Given the description of an element on the screen output the (x, y) to click on. 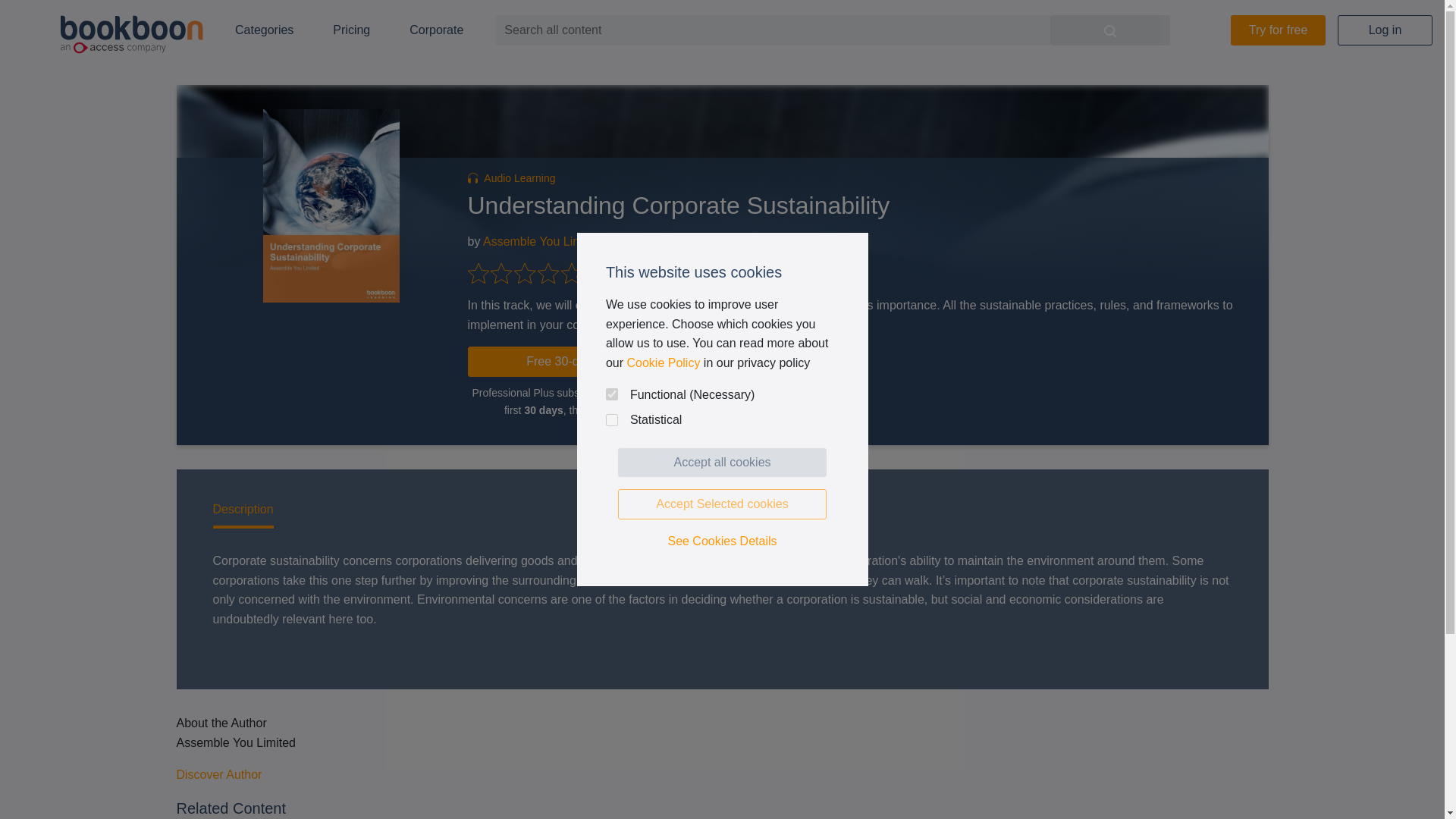
Pricing (351, 30)
Corporate (436, 30)
Categories (264, 30)
Accept Selected cookies (722, 503)
See Cookies Details (722, 541)
FUNCTIONAL (611, 394)
Accept all cookies (722, 461)
Cookie Policy (663, 362)
STATISTICAL (611, 419)
